Given the description of an element on the screen output the (x, y) to click on. 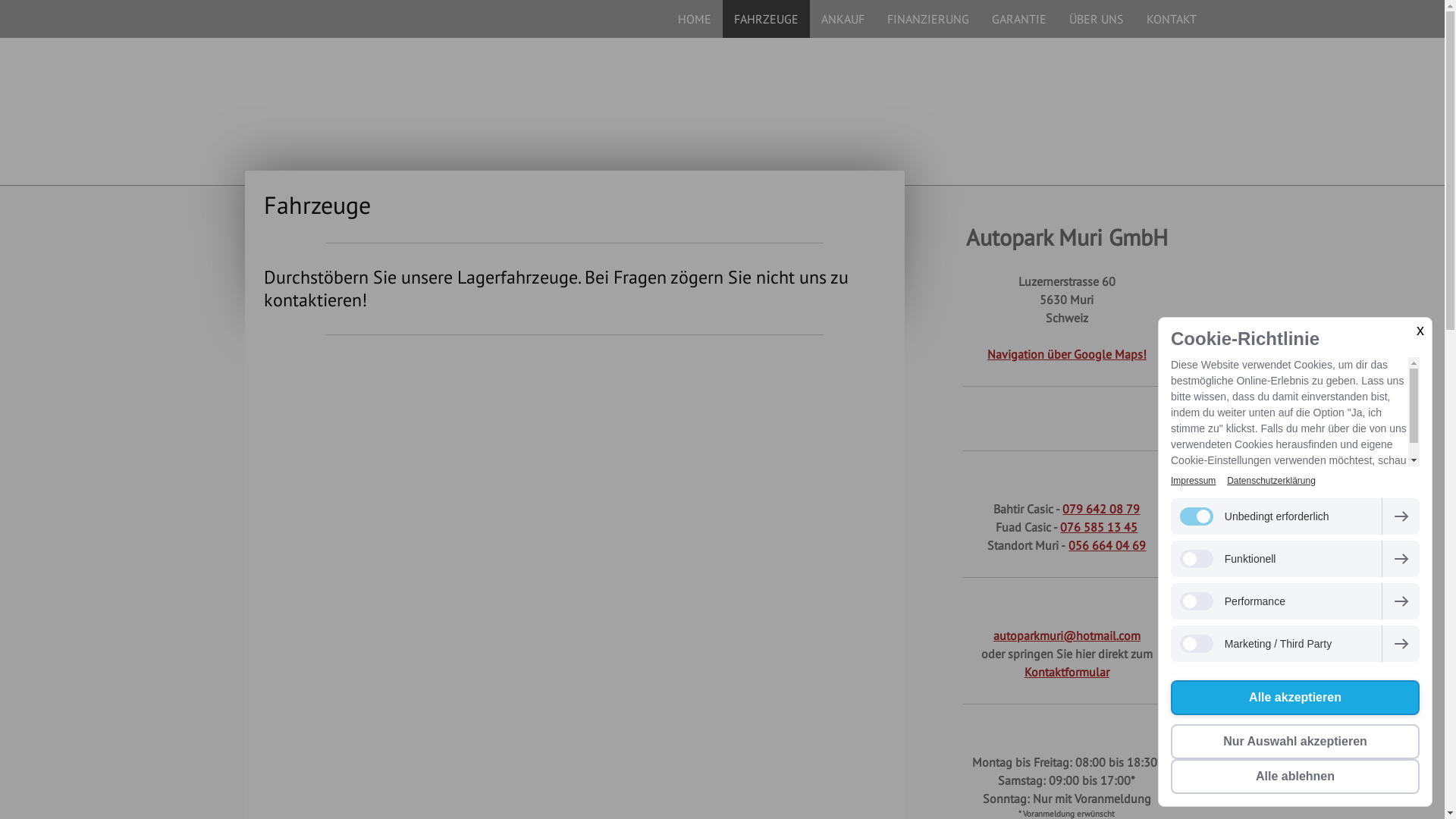
Nur Auswahl akzeptieren Element type: text (1294, 741)
FAHRZEUGE Element type: text (765, 18)
Impressum Element type: text (1192, 480)
FINANZIERUNG Element type: text (927, 18)
Kontaktformular Element type: text (1066, 671)
HOME Element type: text (693, 18)
079 642 08 79 Element type: text (1100, 508)
Alle ablehnen Element type: text (1294, 776)
056 664 04 69 Element type: text (1106, 544)
KONTAKT Element type: text (1170, 18)
Alle akzeptieren Element type: text (1294, 697)
ANKAUF Element type: text (842, 18)
076 585 13 45 Element type: text (1098, 526)
autoparkmuri@hotmail.com Element type: text (1066, 635)
GARANTIE Element type: text (1018, 18)
